Given the description of an element on the screen output the (x, y) to click on. 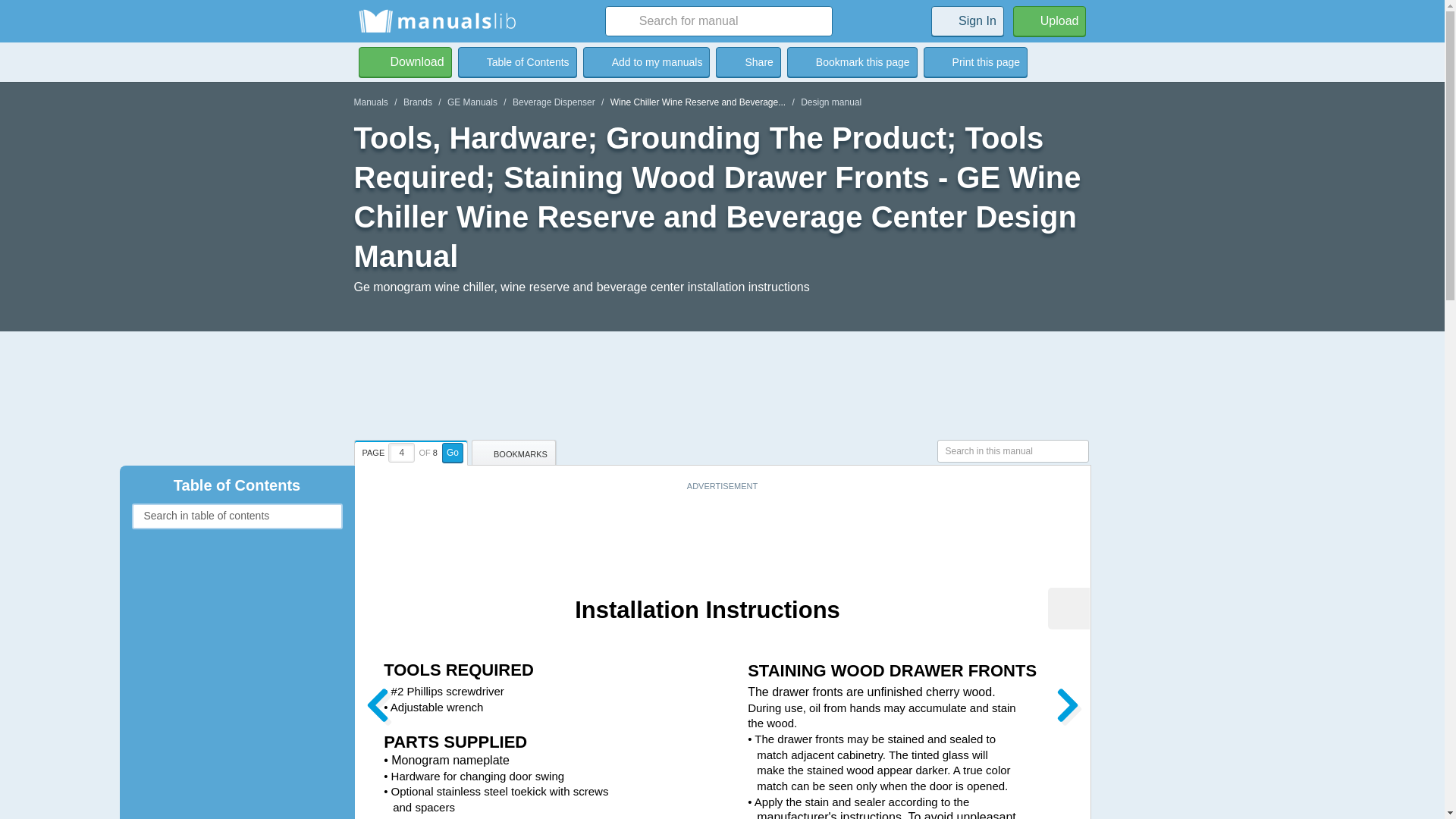
Download (404, 61)
Manuals (370, 102)
Add to my manuals (646, 61)
Print this page (975, 61)
Share this manual (748, 61)
Brands (417, 102)
Download this manual (404, 61)
Design manual (830, 102)
Bookmark this page (852, 61)
GE Manuals (471, 102)
